Given the description of an element on the screen output the (x, y) to click on. 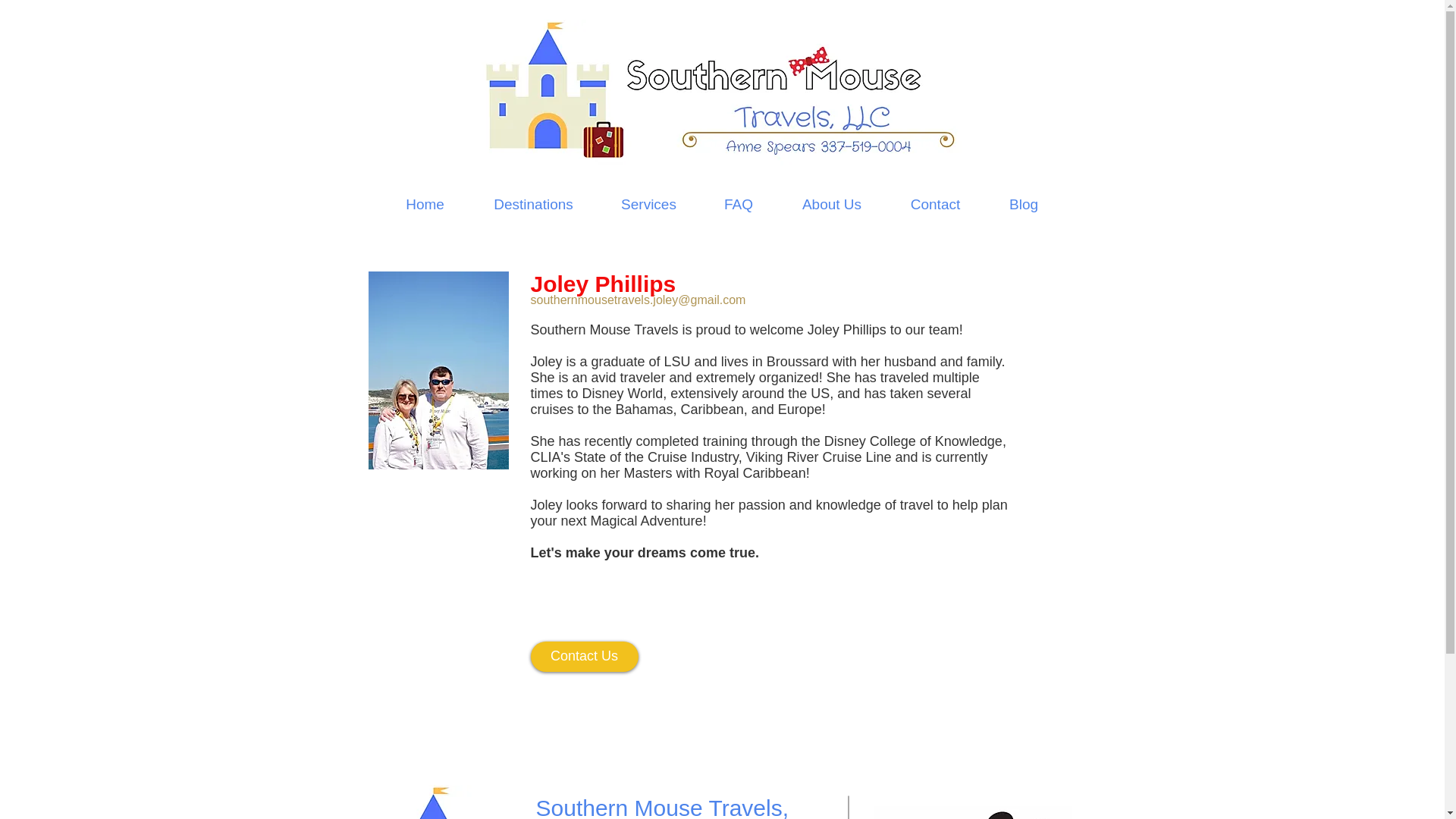
Contact Us (585, 656)
Destinations (532, 204)
FAQ (737, 204)
Contact (934, 204)
About Us (831, 204)
Blog (1023, 204)
Home (424, 204)
Services (647, 204)
